Given the description of an element on the screen output the (x, y) to click on. 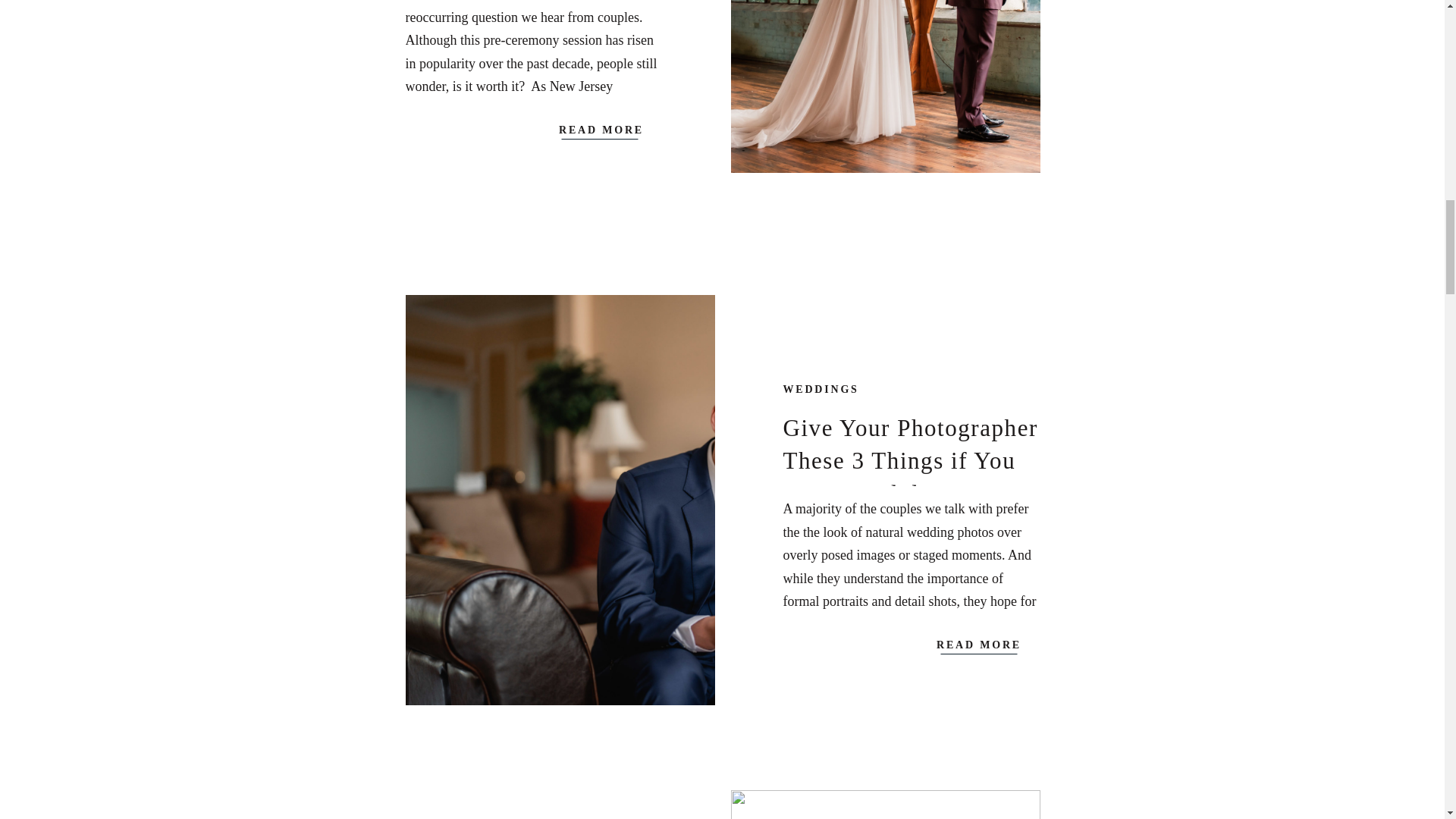
READ MORE (601, 127)
READ MORE (979, 642)
WEDDINGS (821, 389)
